Given the description of an element on the screen output the (x, y) to click on. 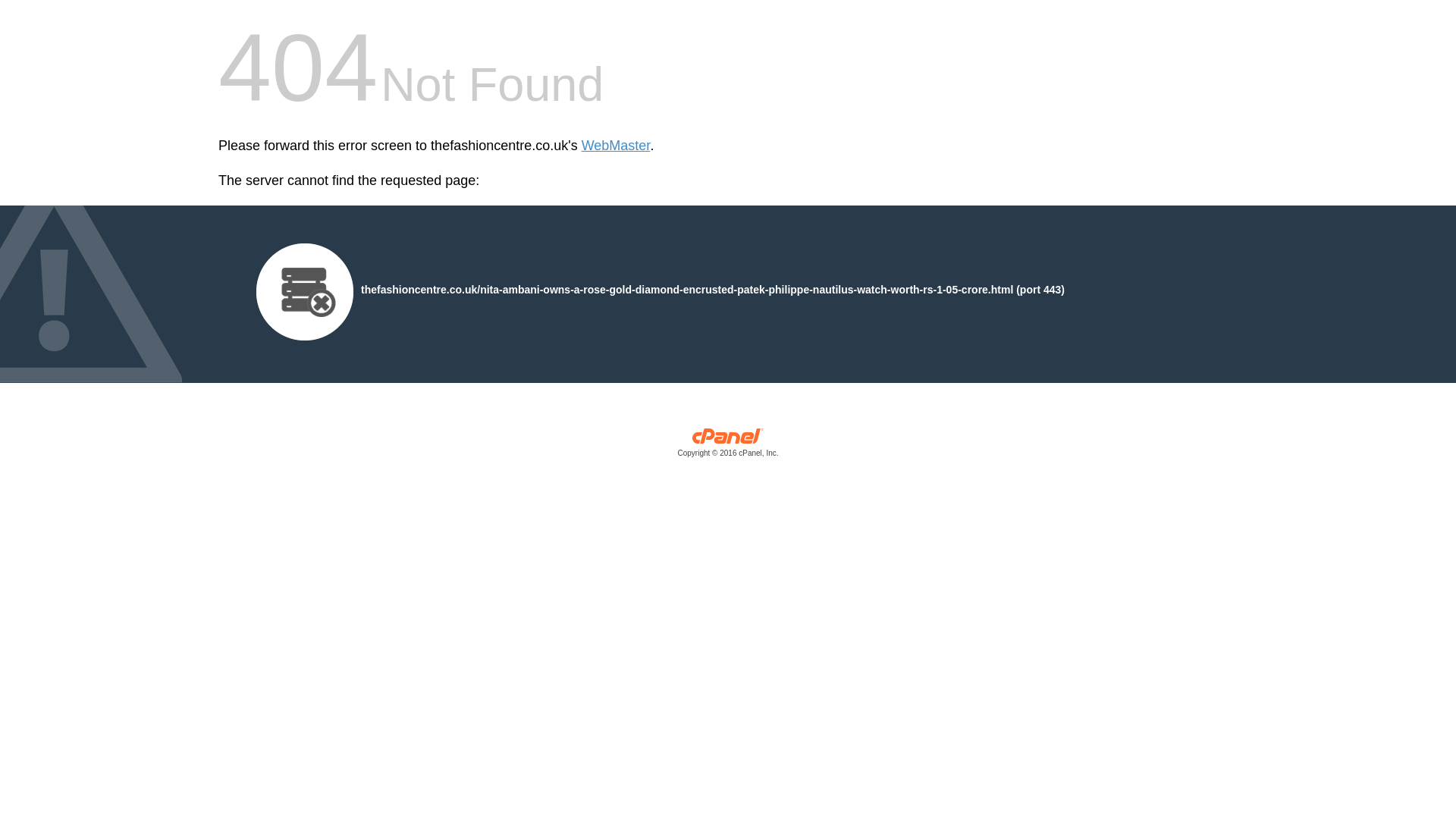
WebMaster (615, 145)
cPanel, Inc. (727, 446)
